Given the description of an element on the screen output the (x, y) to click on. 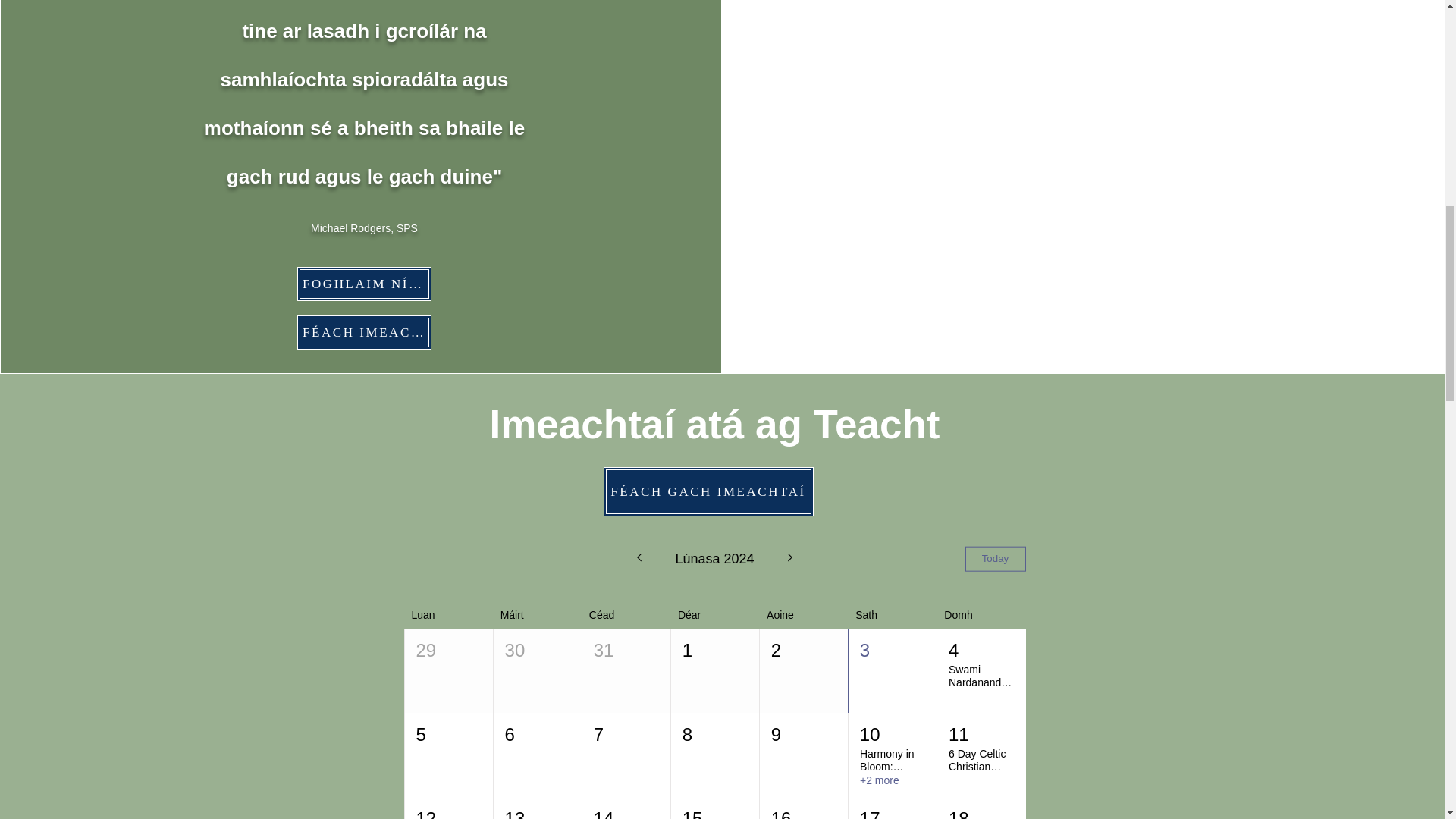
Today (994, 559)
